Given the description of an element on the screen output the (x, y) to click on. 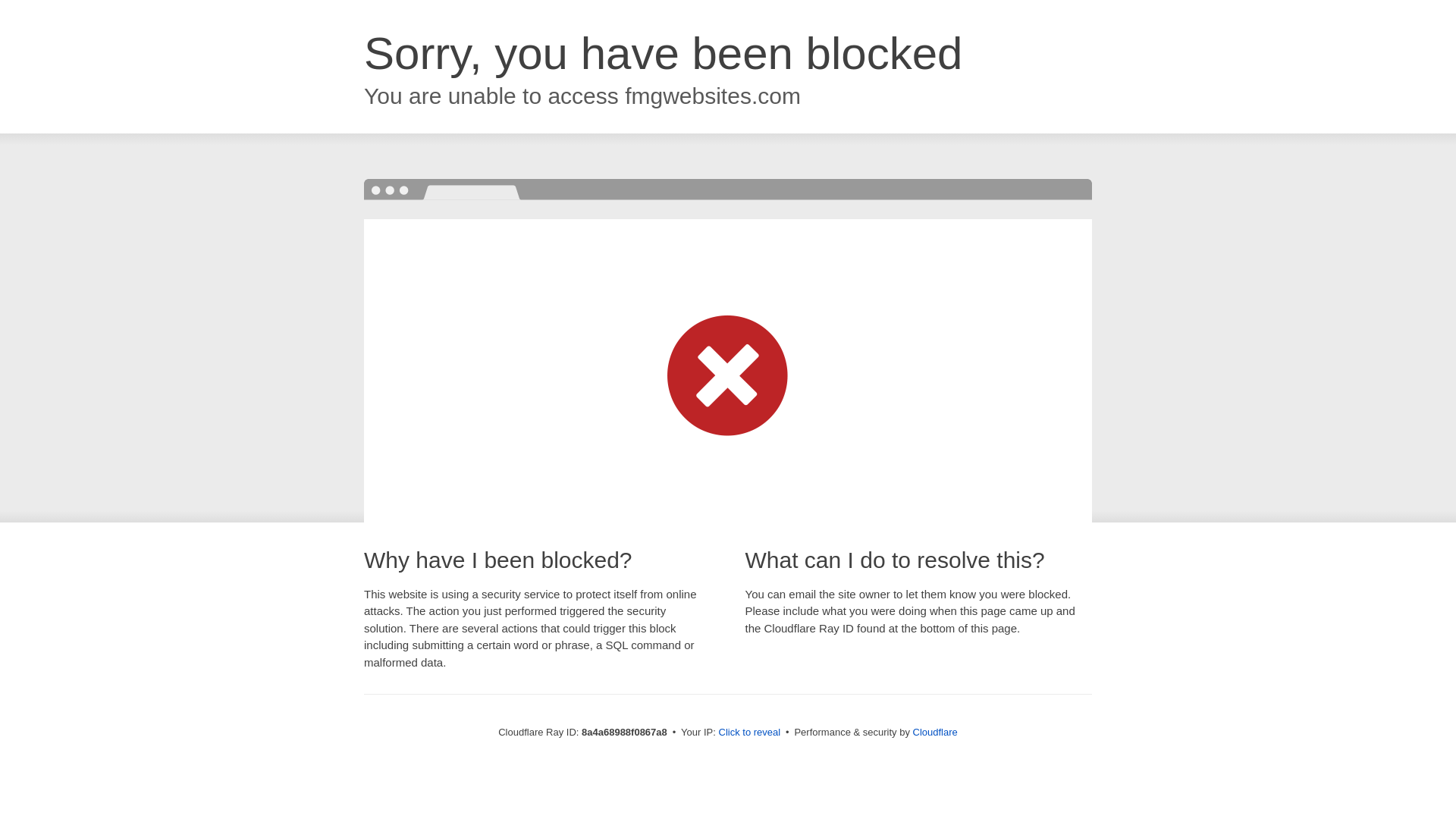
Cloudflare (935, 731)
Click to reveal (749, 732)
